Given the description of an element on the screen output the (x, y) to click on. 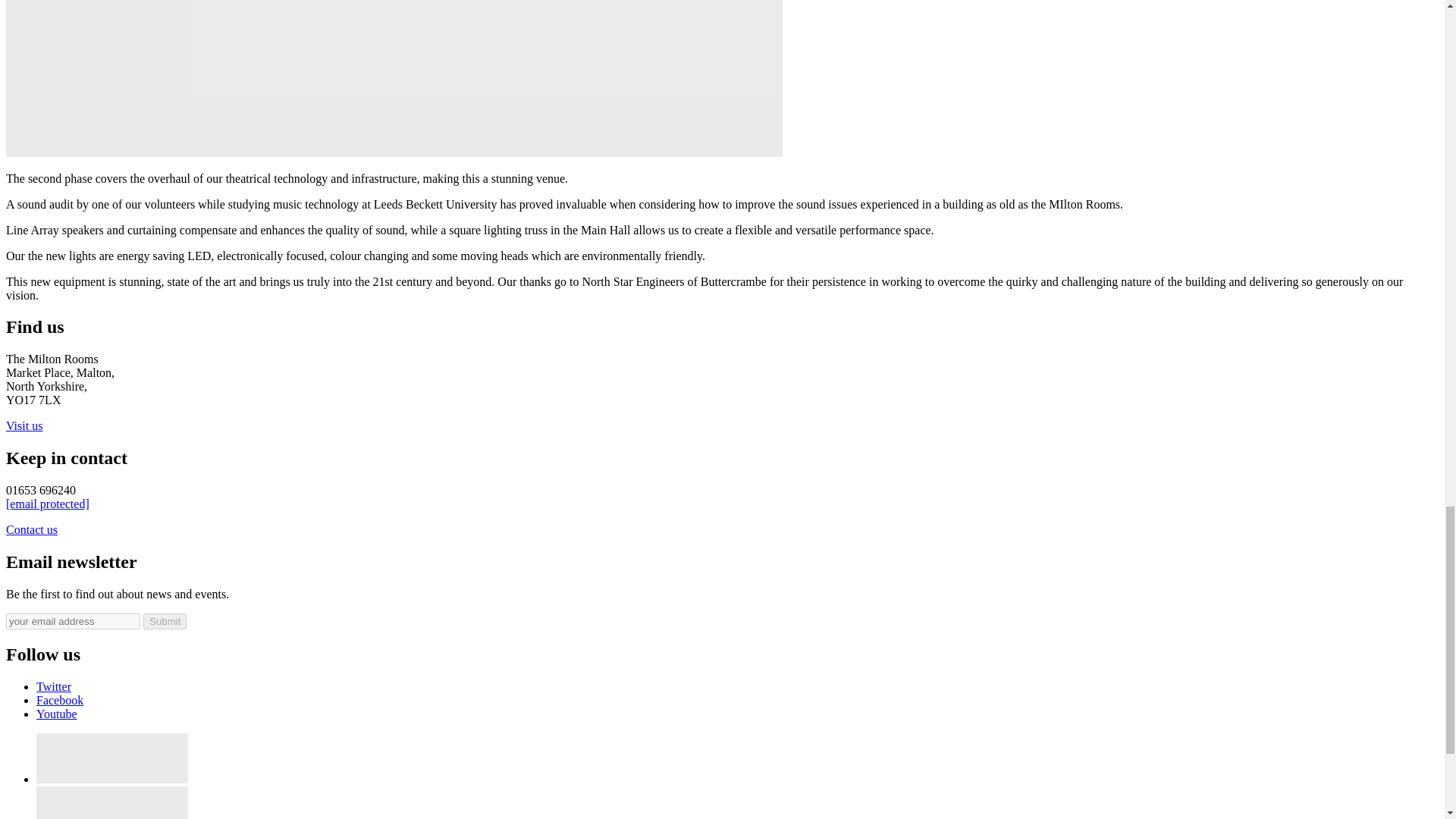
Contact us (31, 529)
Submit (164, 621)
Youtube (56, 713)
Facebook (59, 699)
Twitter (53, 686)
Visit us (23, 425)
Submit (164, 621)
